Given the description of an element on the screen output the (x, y) to click on. 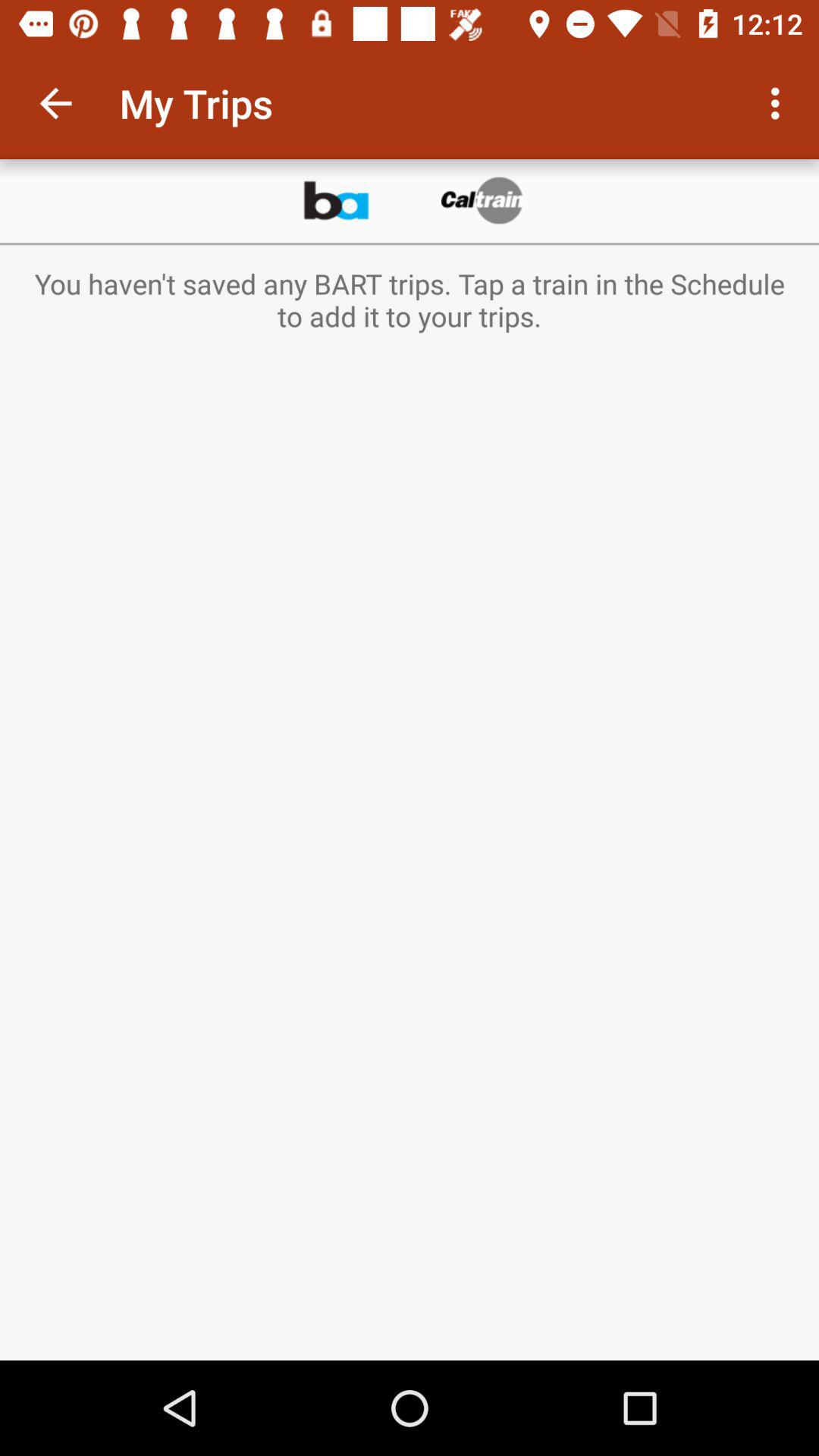
activate caltrain (482, 200)
